Given the description of an element on the screen output the (x, y) to click on. 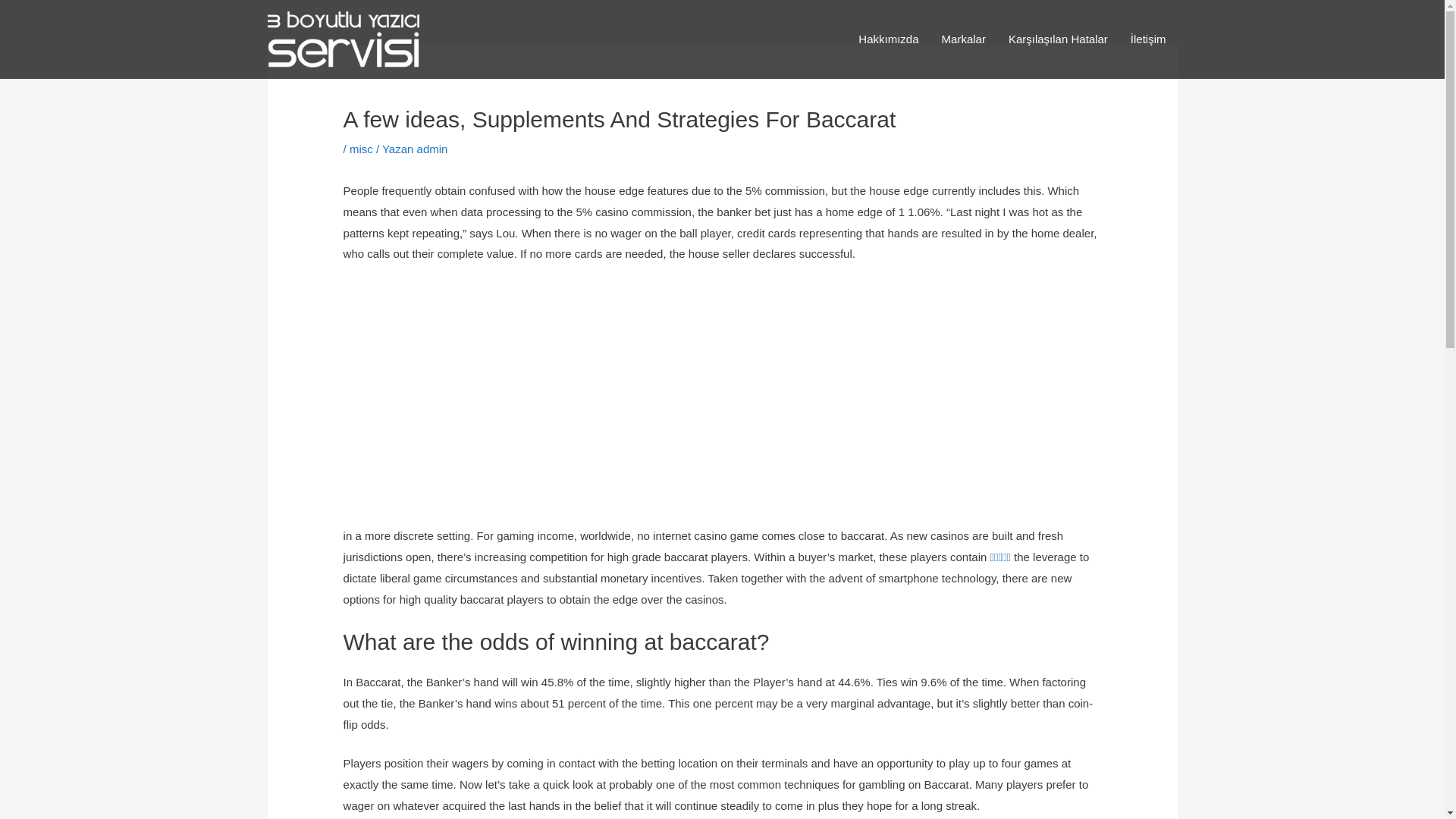
misc Element type: text (361, 148)
admin Element type: text (432, 148)
Markalar Element type: text (963, 39)
